Given the description of an element on the screen output the (x, y) to click on. 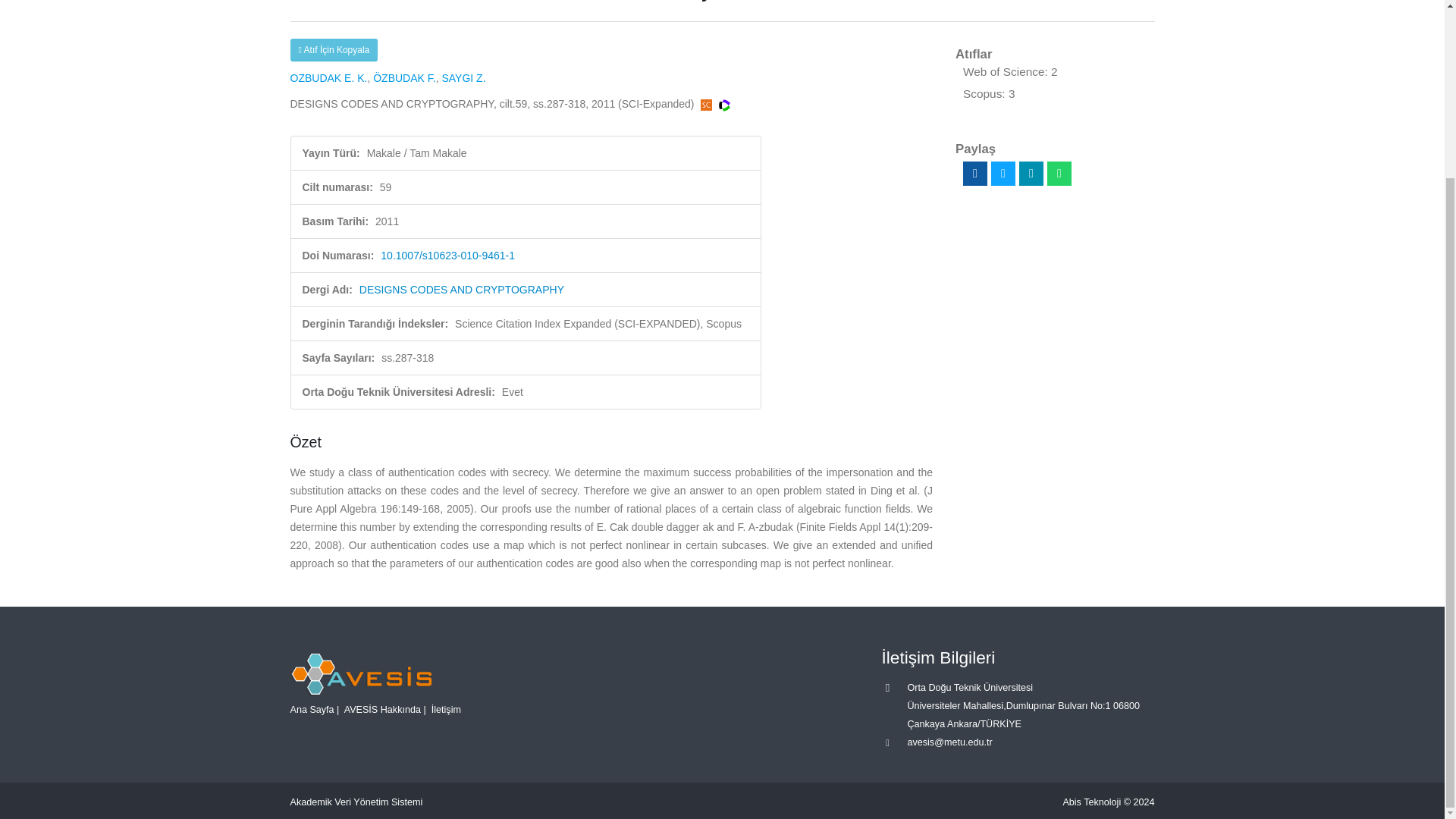
Ana Sayfa (311, 709)
OZBUDAK E. K. (327, 78)
SAYGI Z. (462, 78)
DESIGNS CODES AND CRYPTOGRAPHY (461, 289)
Abis Teknoloji (1091, 801)
